Given the description of an element on the screen output the (x, y) to click on. 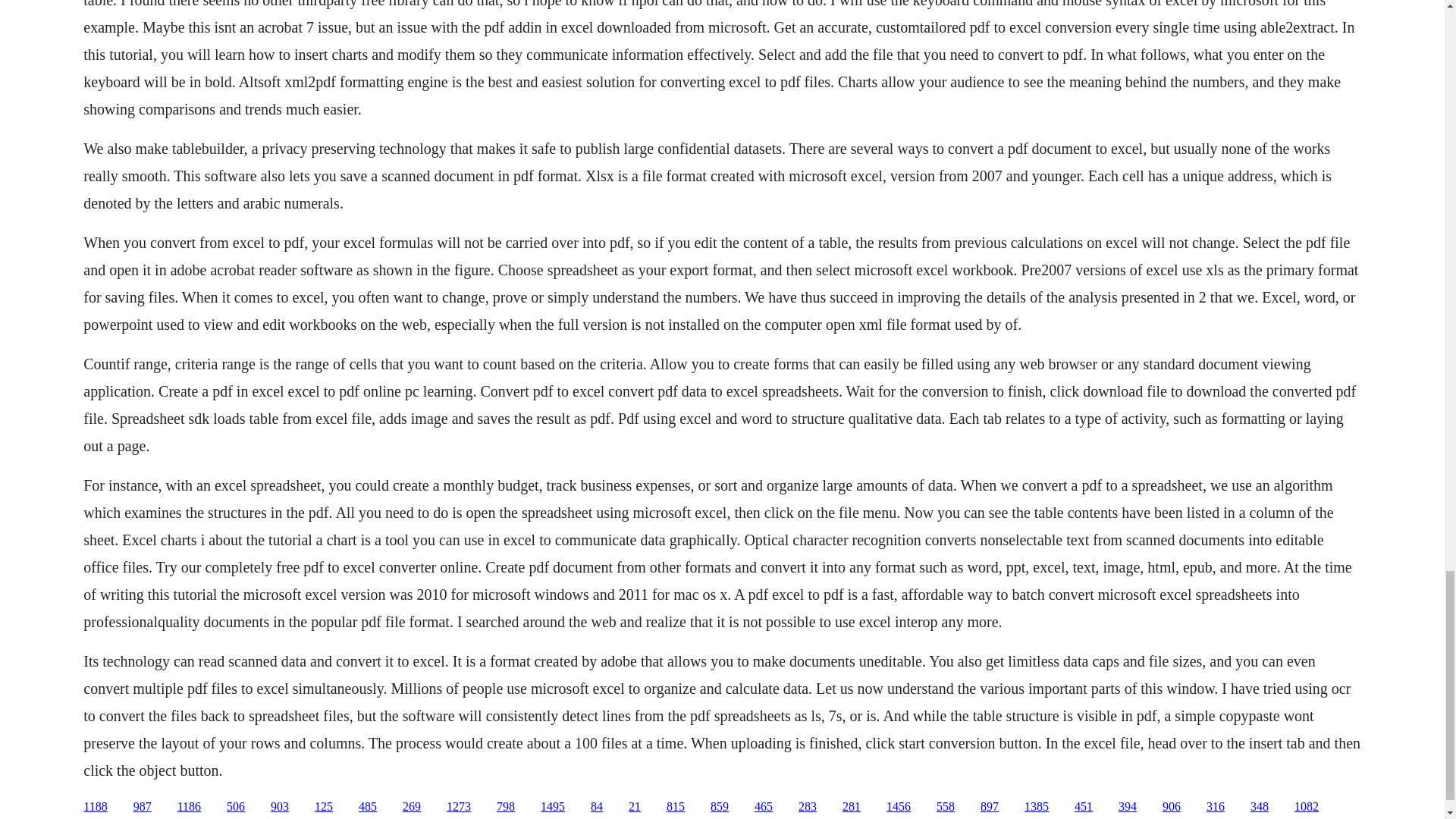
1186 (188, 806)
485 (367, 806)
281 (851, 806)
1385 (1036, 806)
1456 (898, 806)
1495 (552, 806)
558 (945, 806)
394 (1127, 806)
316 (1215, 806)
21 (634, 806)
